Given the description of an element on the screen output the (x, y) to click on. 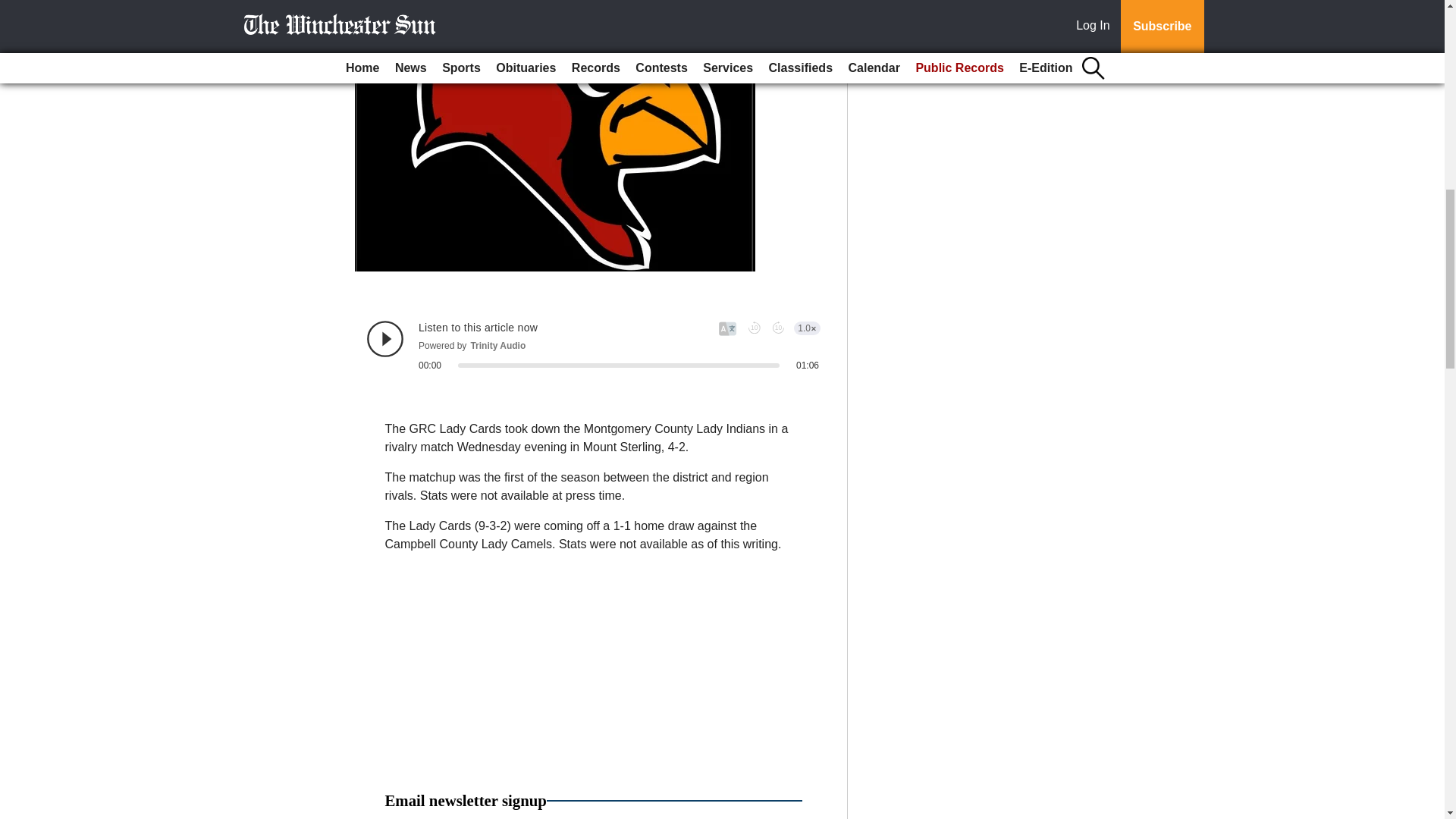
Trinity Audio Player (592, 345)
